Given the description of an element on the screen output the (x, y) to click on. 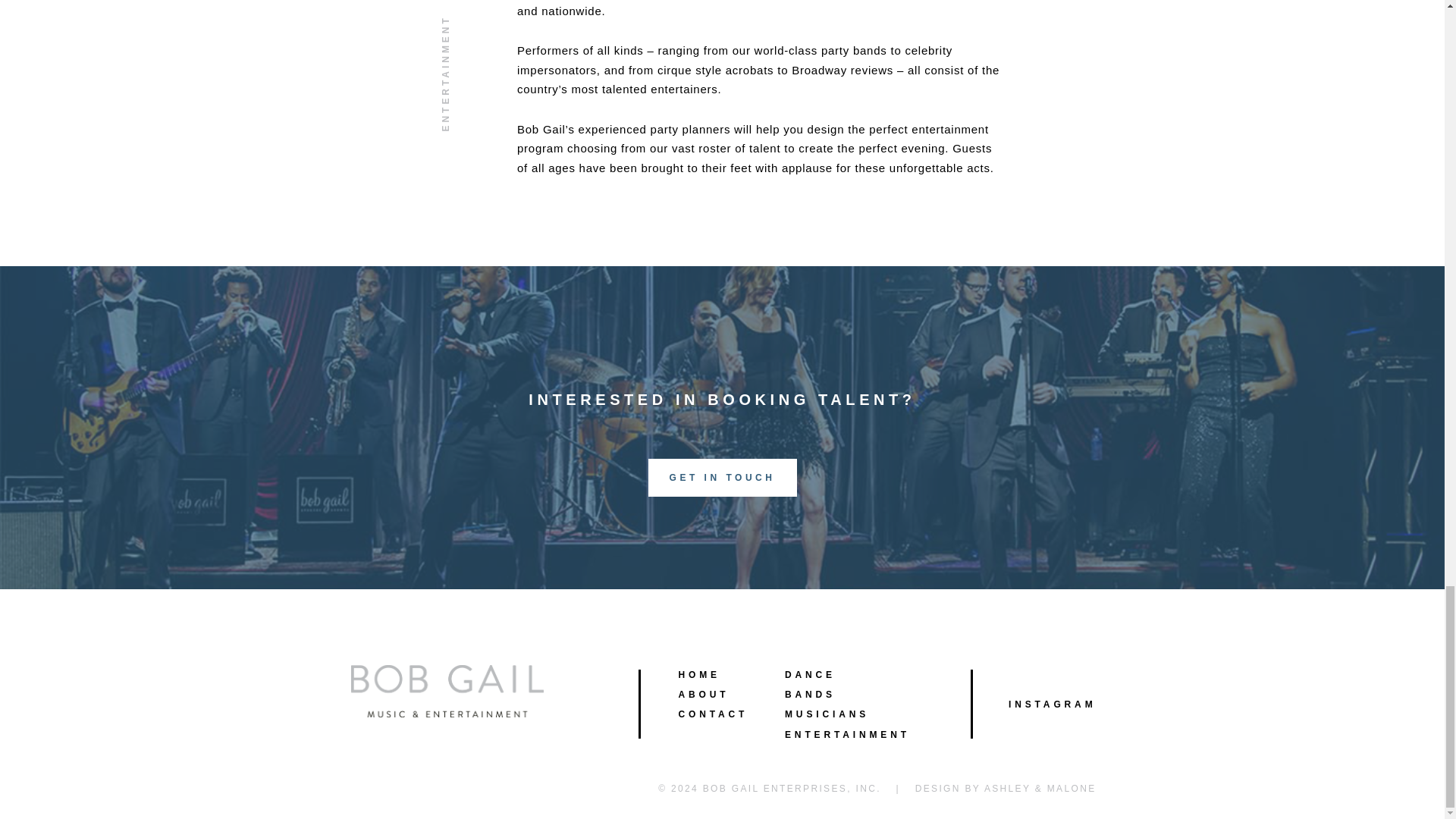
GET IN TOUCH (721, 477)
MUSICIANS (826, 714)
INSTAGRAM (1052, 704)
DANCE BANDS (809, 684)
ENTERTAINMENT (847, 734)
HOME (698, 674)
CONTACT (713, 714)
ABOUT (703, 694)
